Given the description of an element on the screen output the (x, y) to click on. 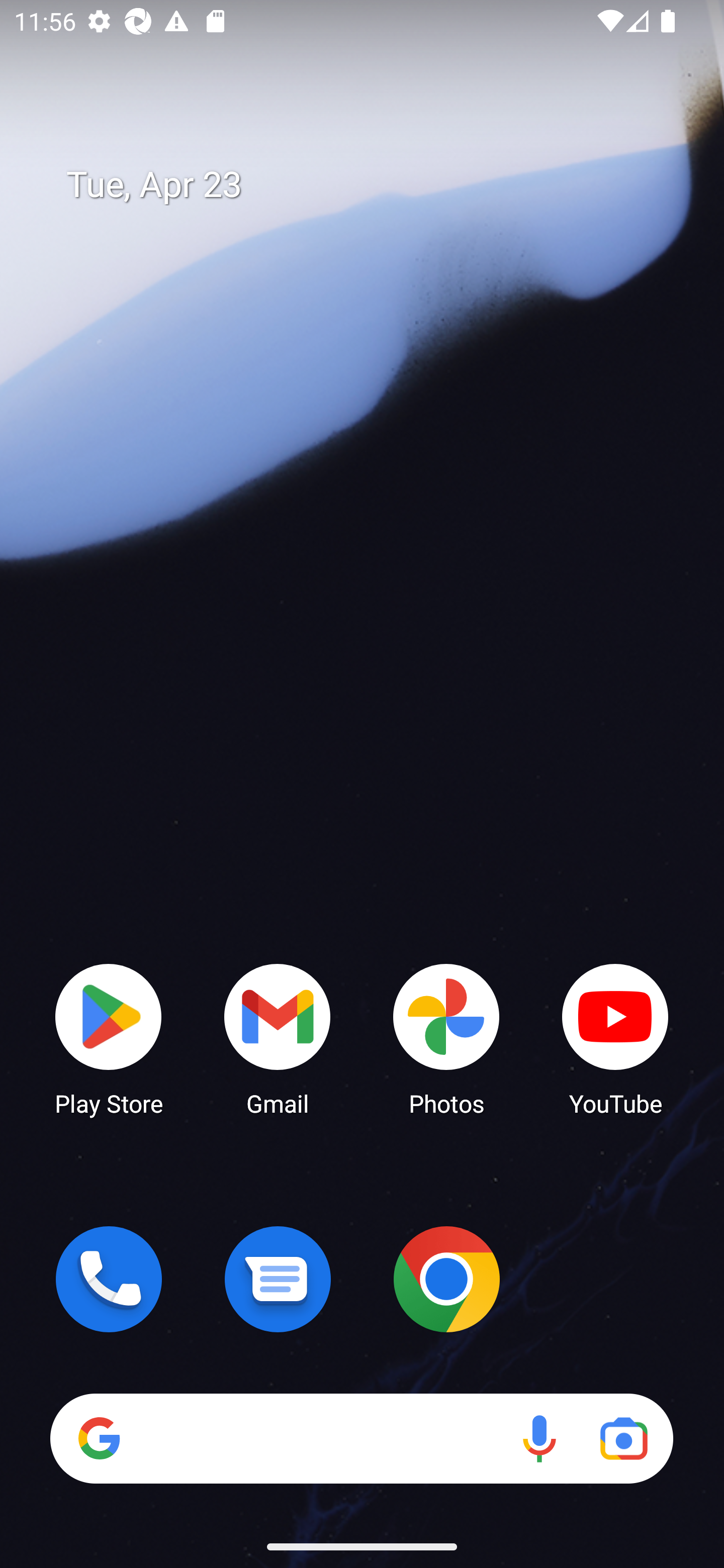
Tue, Apr 23 (375, 184)
Play Store (108, 1038)
Gmail (277, 1038)
Photos (445, 1038)
YouTube (615, 1038)
Phone (108, 1279)
Messages (277, 1279)
Chrome (446, 1279)
Search Voice search Google Lens (361, 1438)
Voice search (539, 1438)
Google Lens (623, 1438)
